Given the description of an element on the screen output the (x, y) to click on. 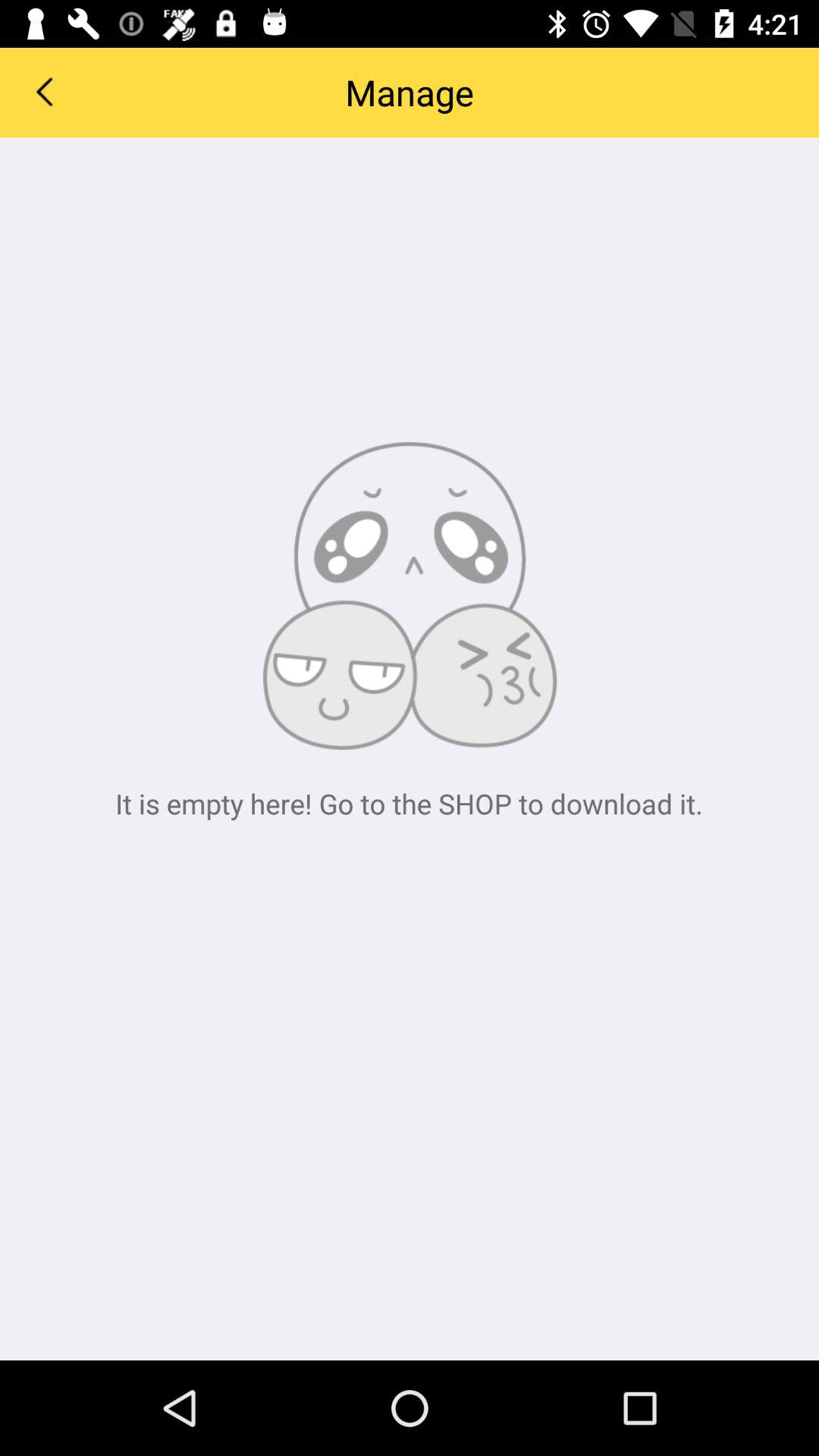
click the icon to the left of manage item (43, 91)
